Given the description of an element on the screen output the (x, y) to click on. 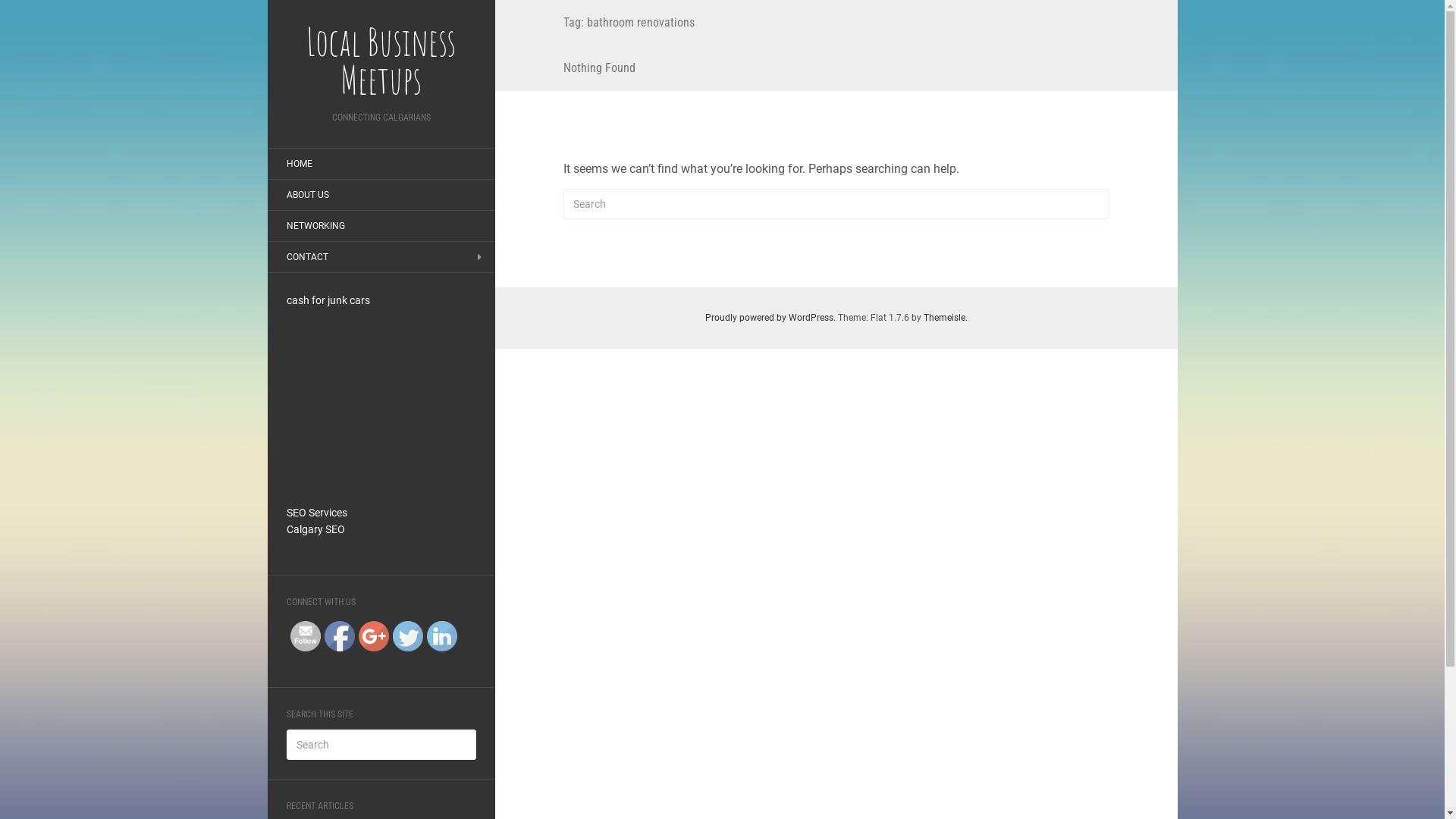
NETWORKING Element type: text (314, 225)
Search Element type: text (22, 10)
Search Element type: text (24, 12)
Google+ Element type: hover (372, 636)
LinkedIn Element type: hover (441, 636)
cash for junk cars Element type: text (328, 300)
Facebook Element type: hover (339, 636)
ABOUT US Element type: text (306, 194)
Proudly powered by WordPress Element type: text (769, 317)
Local Business Meetups Element type: text (380, 60)
Themeisle Element type: text (944, 317)
Calgary SEO Element type: text (315, 529)
Twitter Element type: hover (407, 636)
CONTACT Element type: text (306, 256)
SEO Services Element type: text (316, 512)
HOME Element type: text (298, 163)
Follow by Email Element type: hover (304, 636)
